Given the description of an element on the screen output the (x, y) to click on. 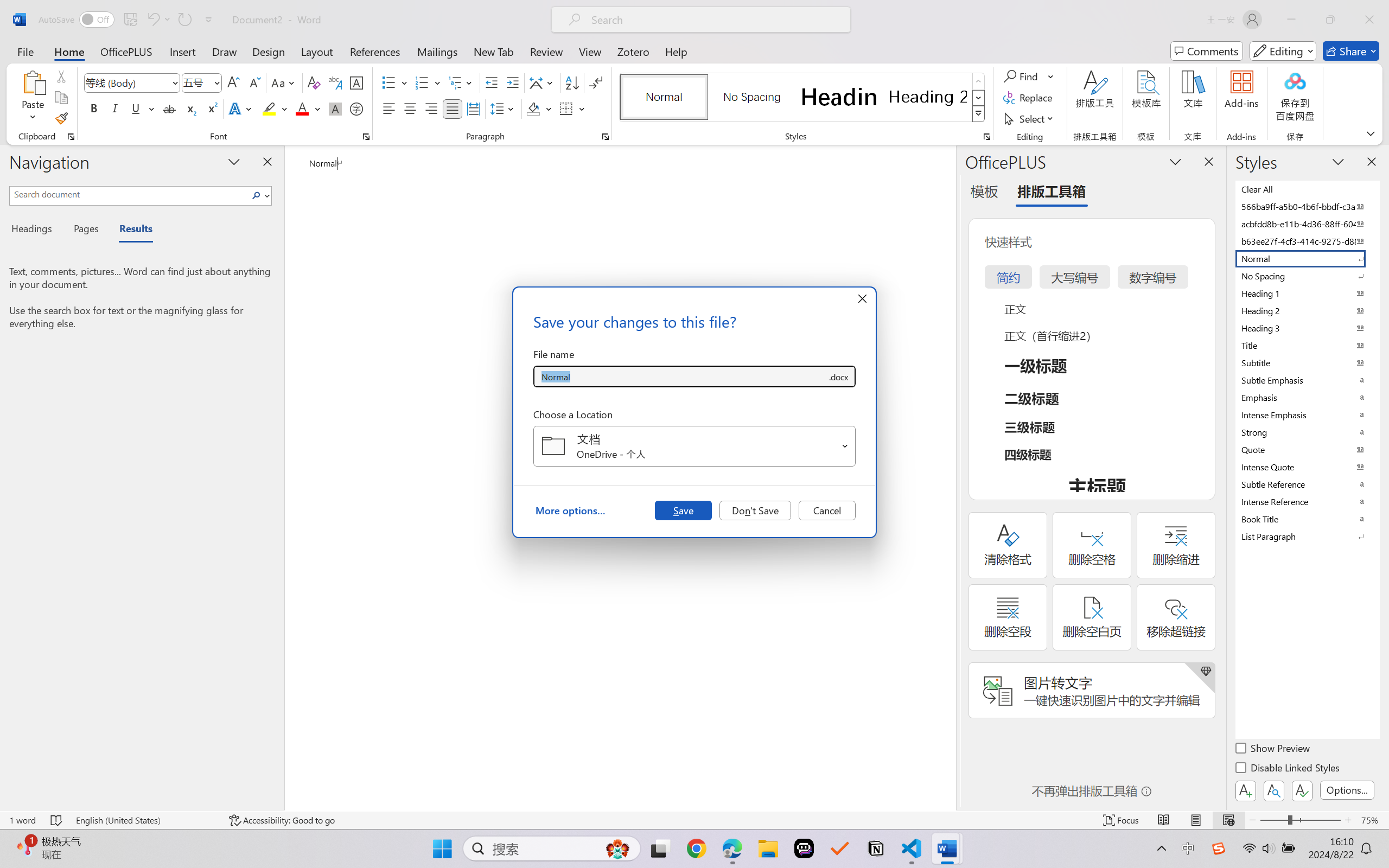
Insert (182, 51)
Subtle Emphasis (1306, 379)
Customize Quick Access Toolbar (208, 19)
Read Mode (1163, 819)
Pages (85, 229)
Asian Layout (542, 82)
File Tab (24, 51)
Title (1306, 345)
Mode (1283, 50)
